Given the description of an element on the screen output the (x, y) to click on. 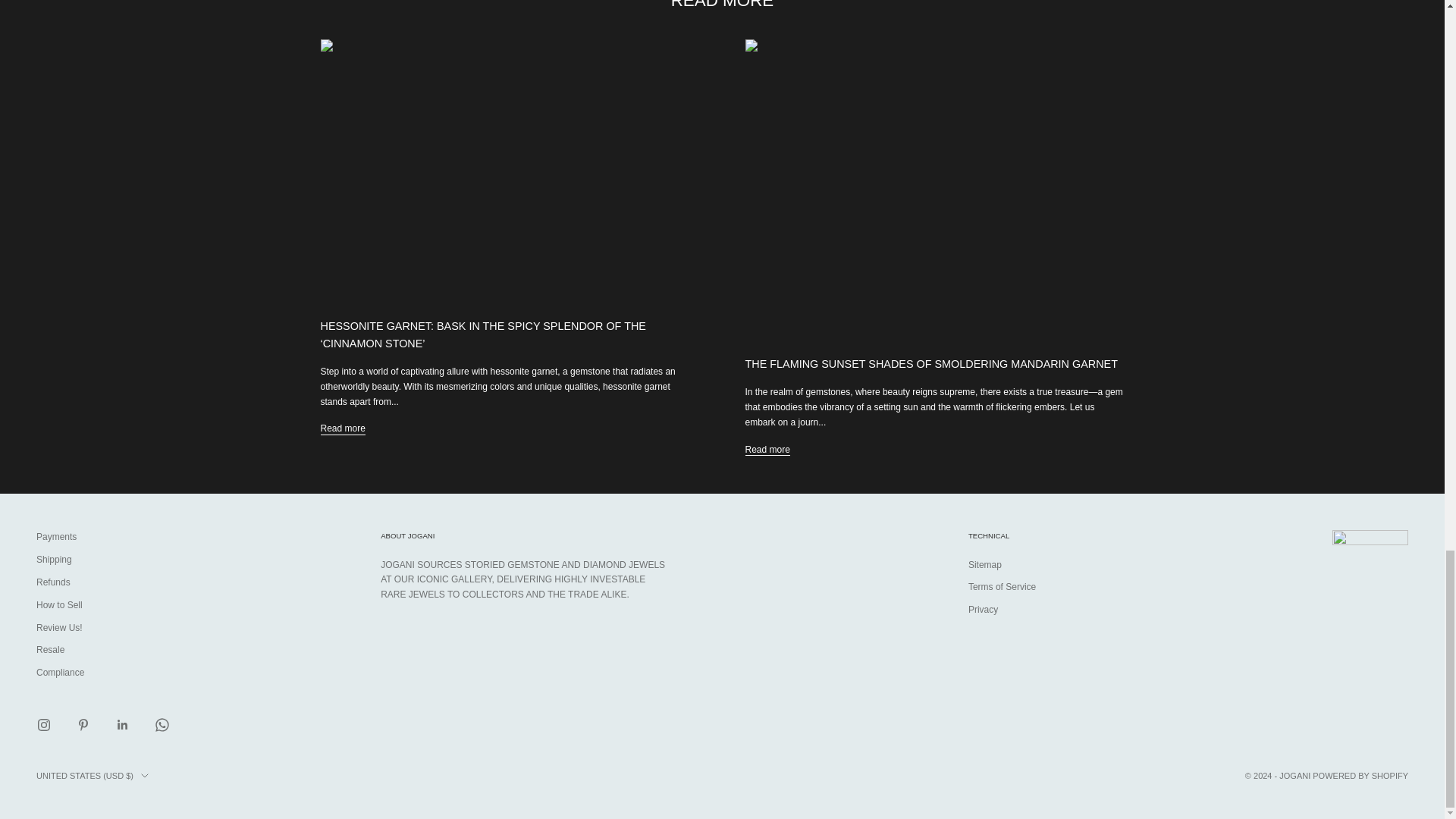
Terms of Service (1001, 586)
Privacy (982, 609)
Refunds (52, 582)
Read more (342, 428)
Sitemap (984, 564)
Read more (766, 450)
Review Us! (59, 627)
How to Sell (59, 604)
Compliance (60, 672)
Resale (50, 649)
THE FLAMING SUNSET SHADES OF SMOLDERING MANDARIN GARNET (930, 363)
Shipping (53, 559)
Payments (56, 536)
